Given the description of an element on the screen output the (x, y) to click on. 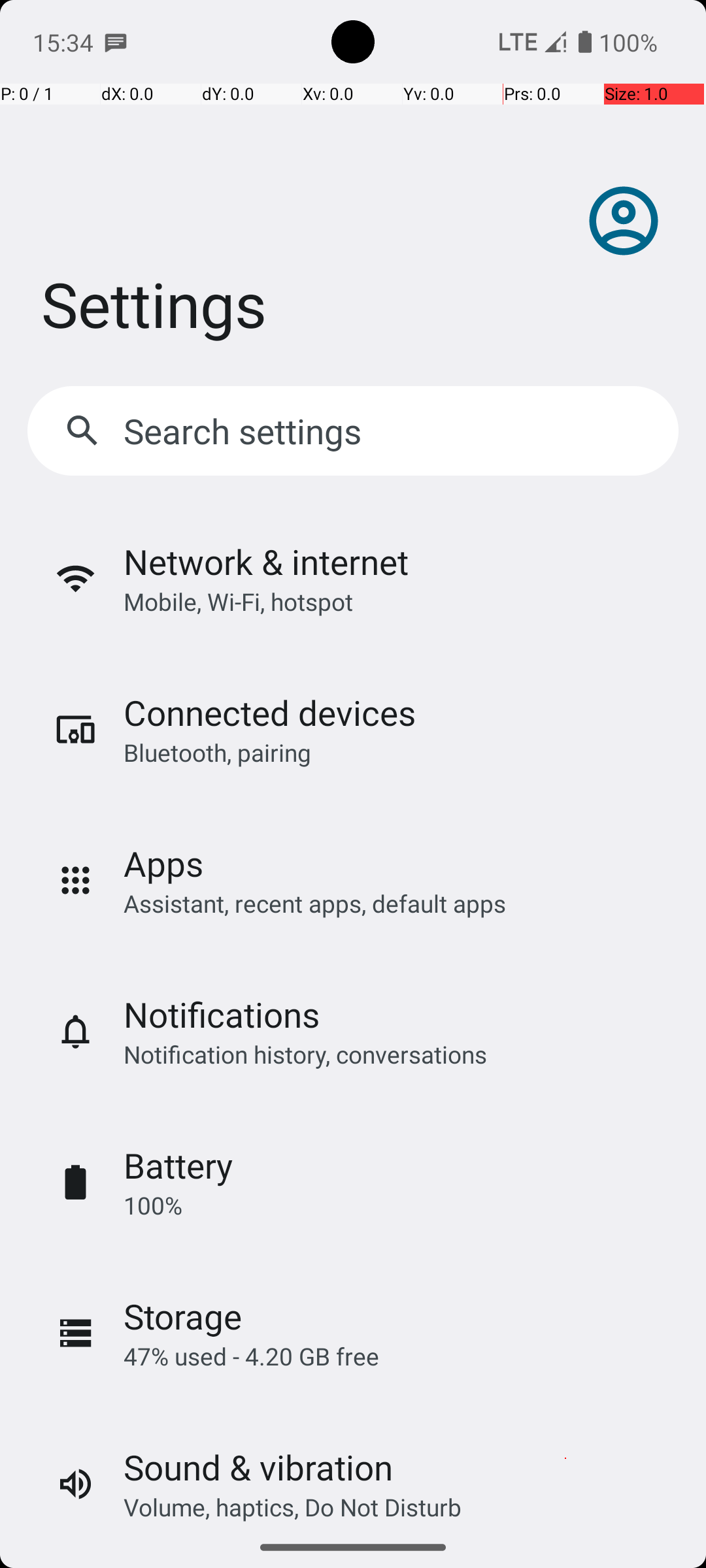
47% used - 4.20 GB free Element type: android.widget.TextView (251, 1355)
